Given the description of an element on the screen output the (x, y) to click on. 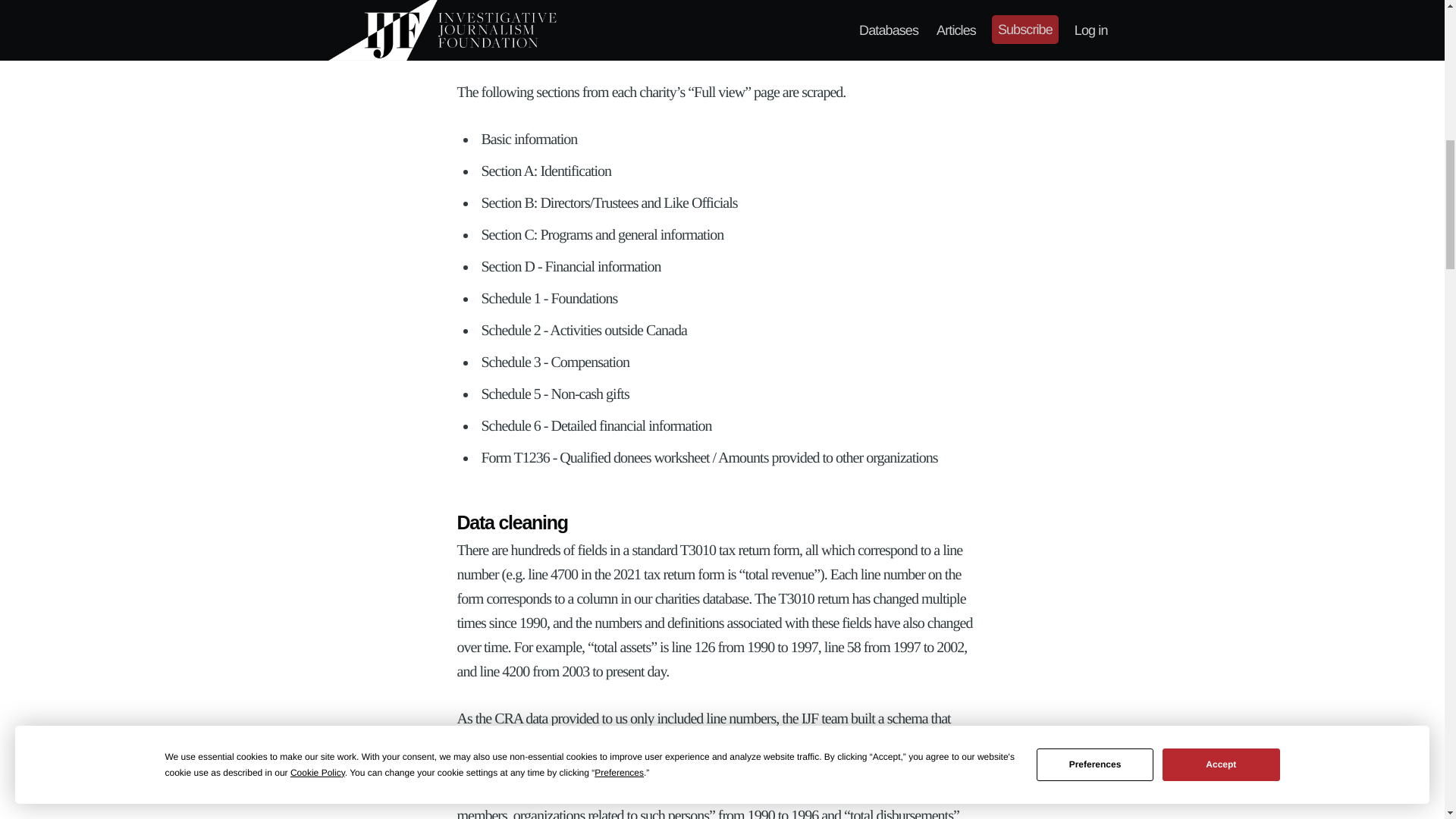
List of Charities web page (862, 21)
